Given the description of an element on the screen output the (x, y) to click on. 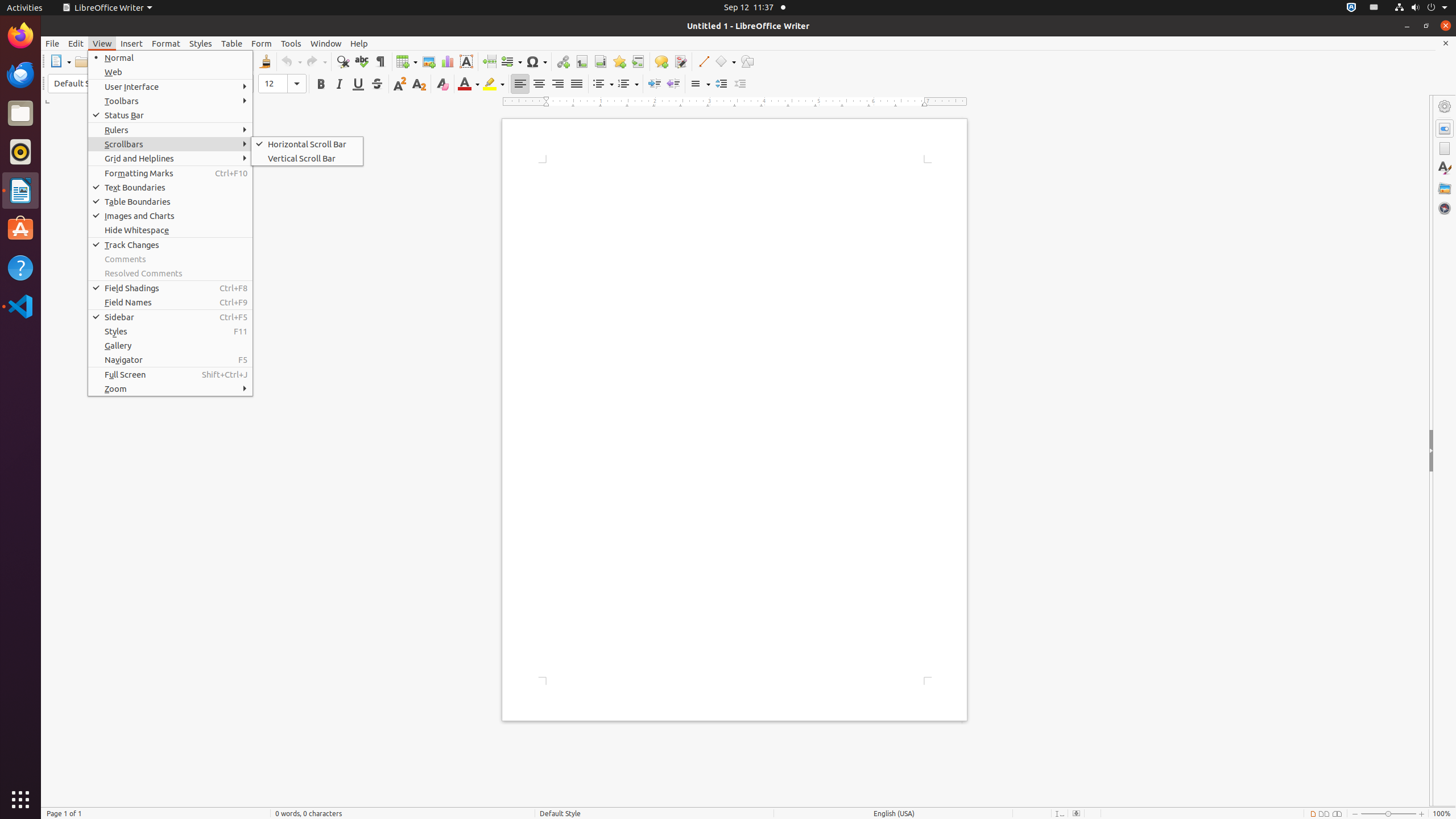
LibreOffice Writer Element type: menu (106, 7)
User Interface Element type: menu (170, 86)
Hide Whitespace Element type: check-menu-item (170, 229)
Field Shadings Element type: check-menu-item (170, 287)
Toolbars Element type: menu (170, 100)
